Given the description of an element on the screen output the (x, y) to click on. 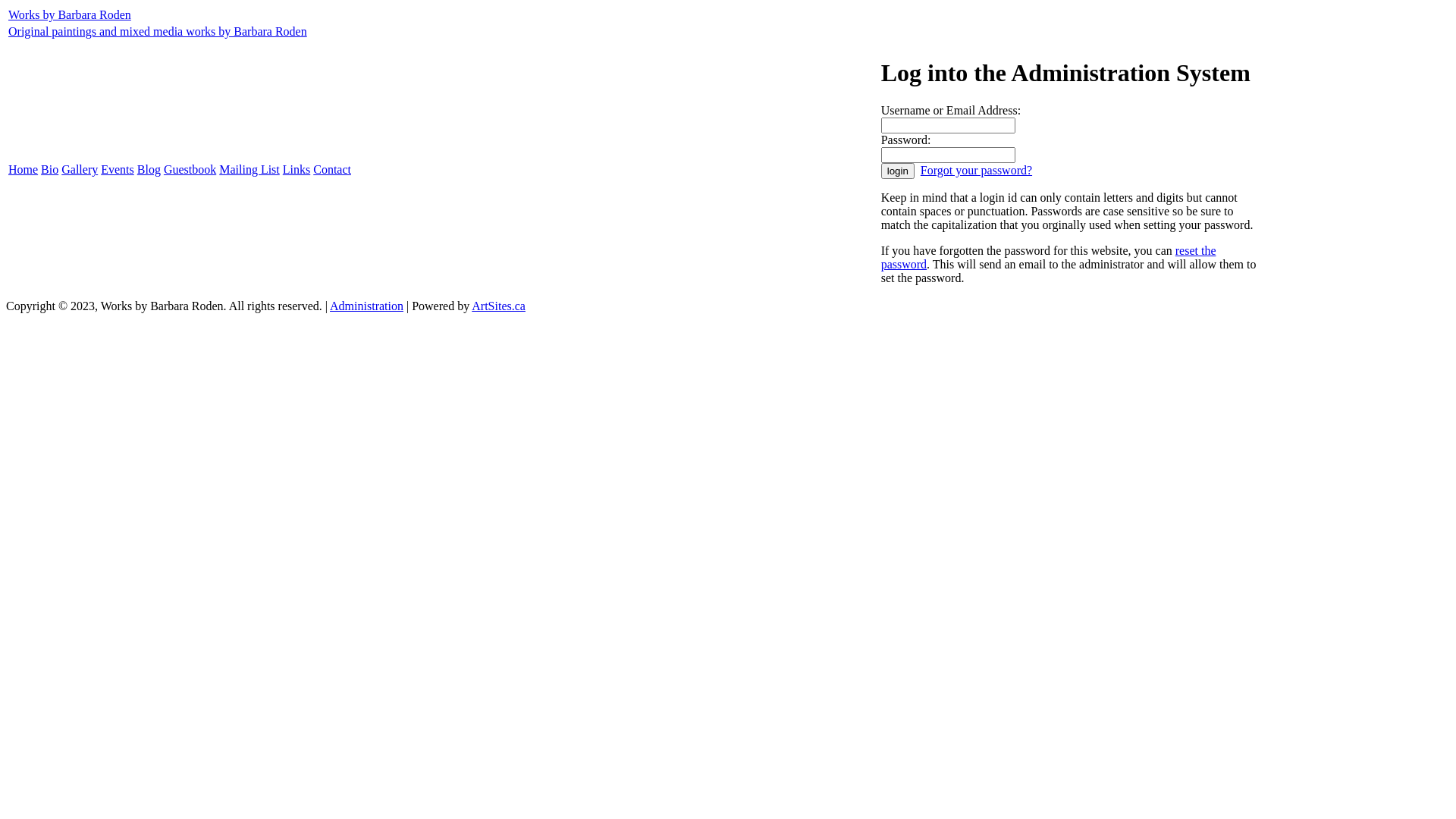
Events Element type: text (117, 169)
Blog Element type: text (148, 169)
ArtSites.ca Element type: text (498, 305)
Works by Barbara Roden Element type: text (69, 14)
Mailing List Element type: text (249, 169)
Home Element type: text (22, 169)
Gallery Element type: text (79, 169)
Forgot your password? Element type: text (976, 169)
Guestbook Element type: text (189, 169)
Bio Element type: text (49, 169)
Links Element type: text (296, 169)
login Element type: text (897, 170)
Administration Element type: text (366, 305)
reset the password Element type: text (1048, 257)
Original paintings and mixed media works by Barbara Roden Element type: text (157, 31)
Contact Element type: text (332, 169)
